Given the description of an element on the screen output the (x, y) to click on. 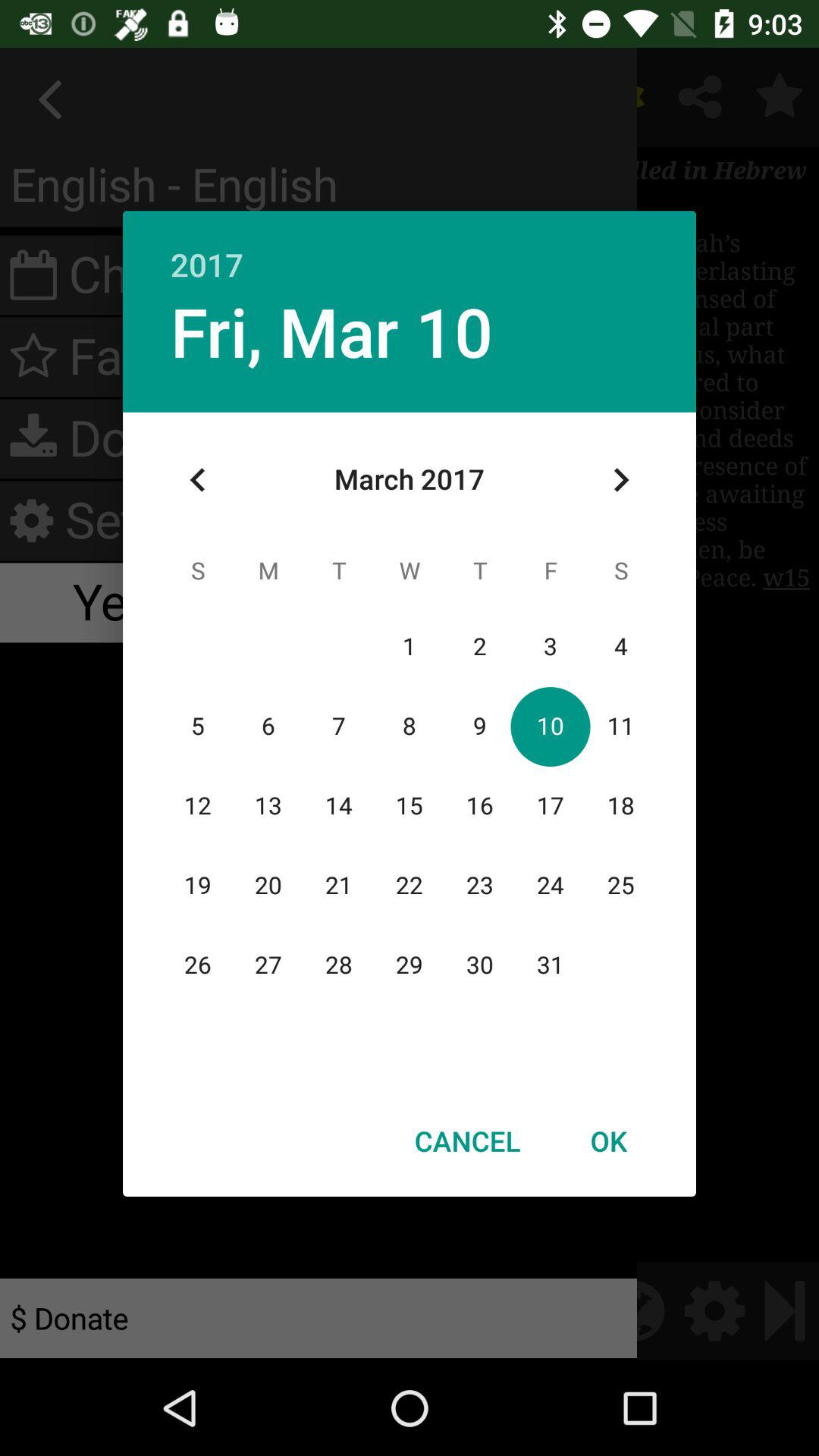
jump until cancel (467, 1140)
